Given the description of an element on the screen output the (x, y) to click on. 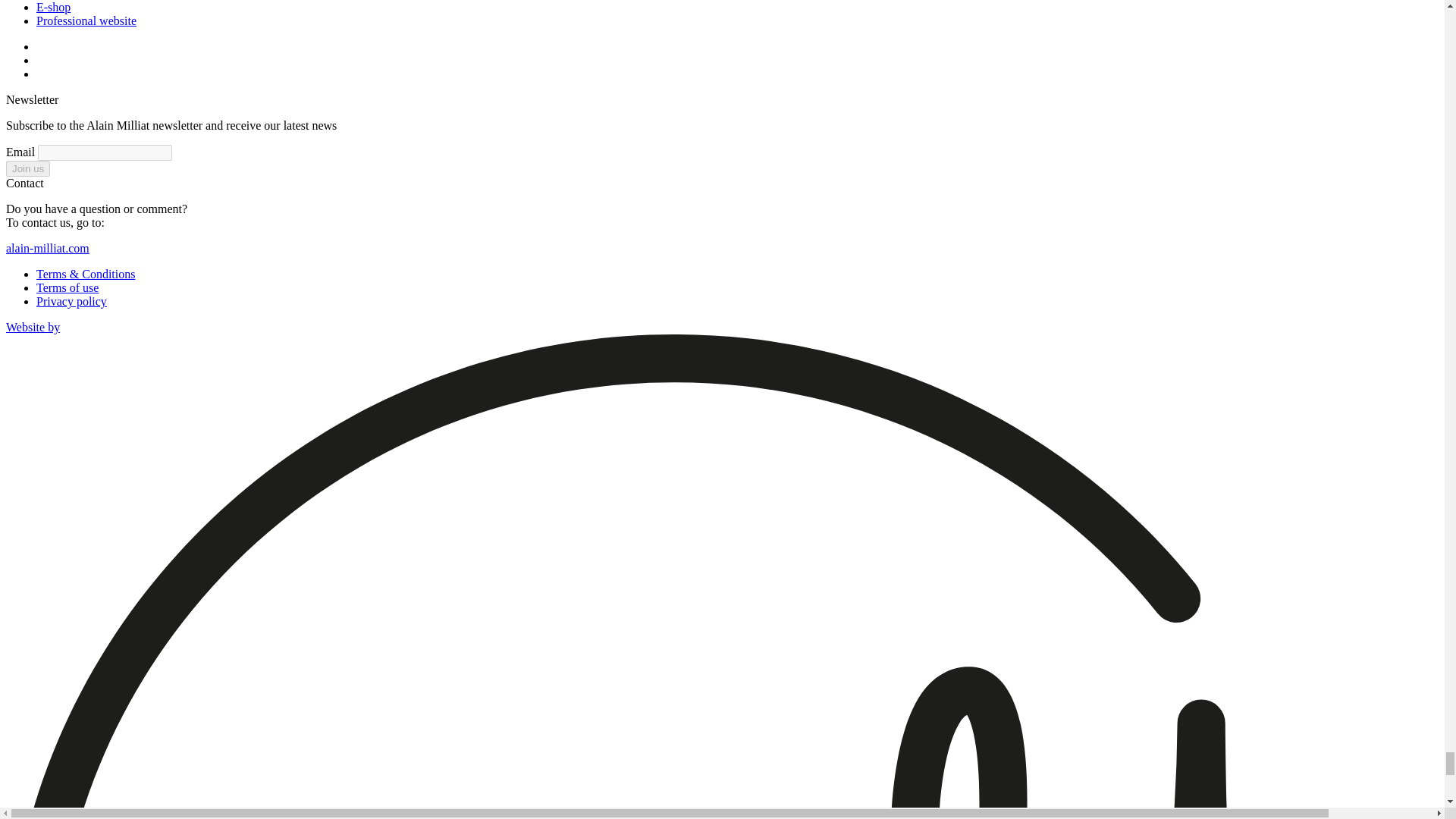
Professional website (86, 20)
Join us (27, 168)
alain-milliat.com (46, 247)
Terms of use (67, 287)
Privacy policy (71, 300)
E-shop (52, 6)
